Given the description of an element on the screen output the (x, y) to click on. 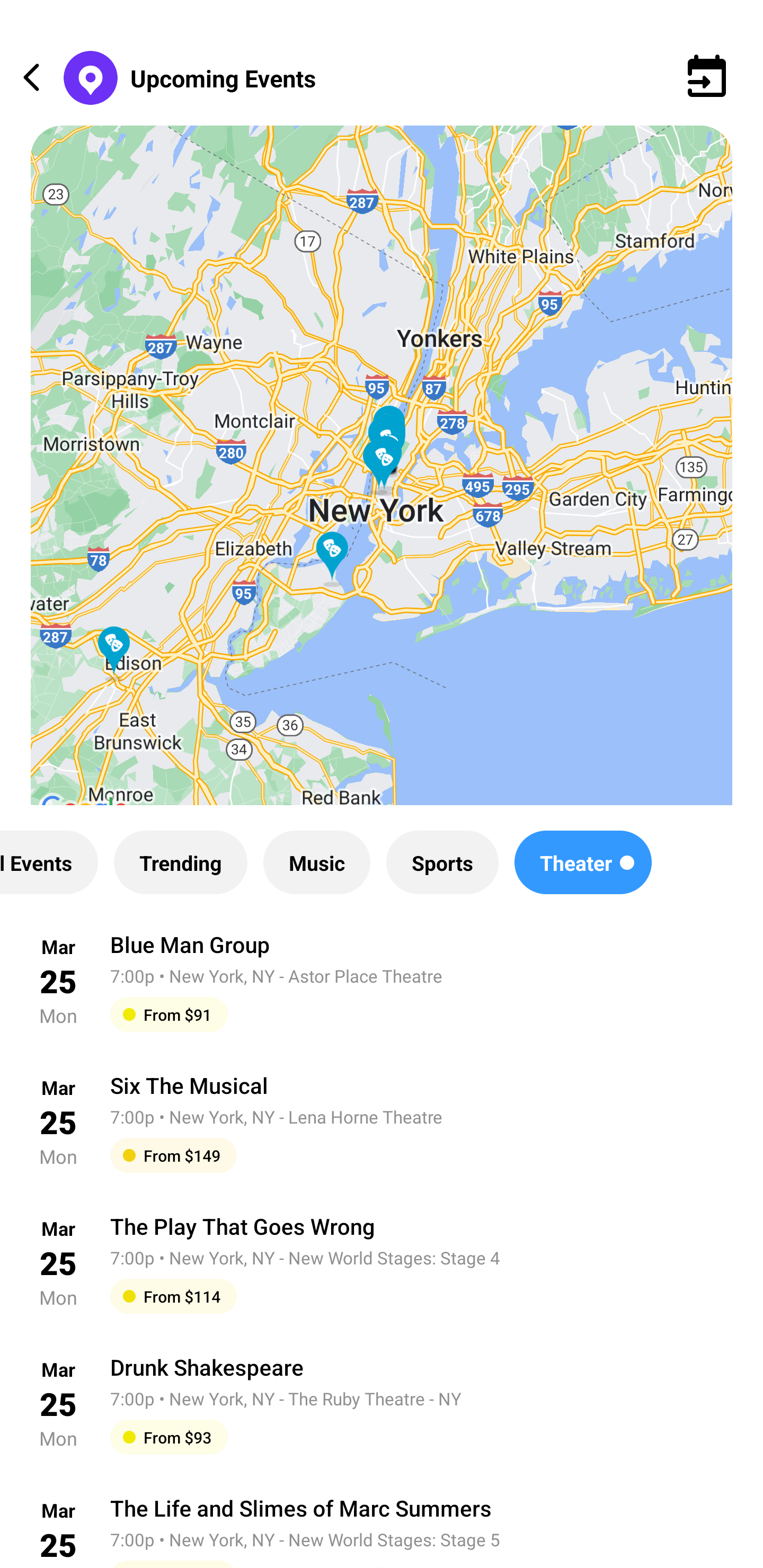
Trending (180, 862)
Music (316, 862)
Sports (442, 862)
Theater (582, 862)
